Given the description of an element on the screen output the (x, y) to click on. 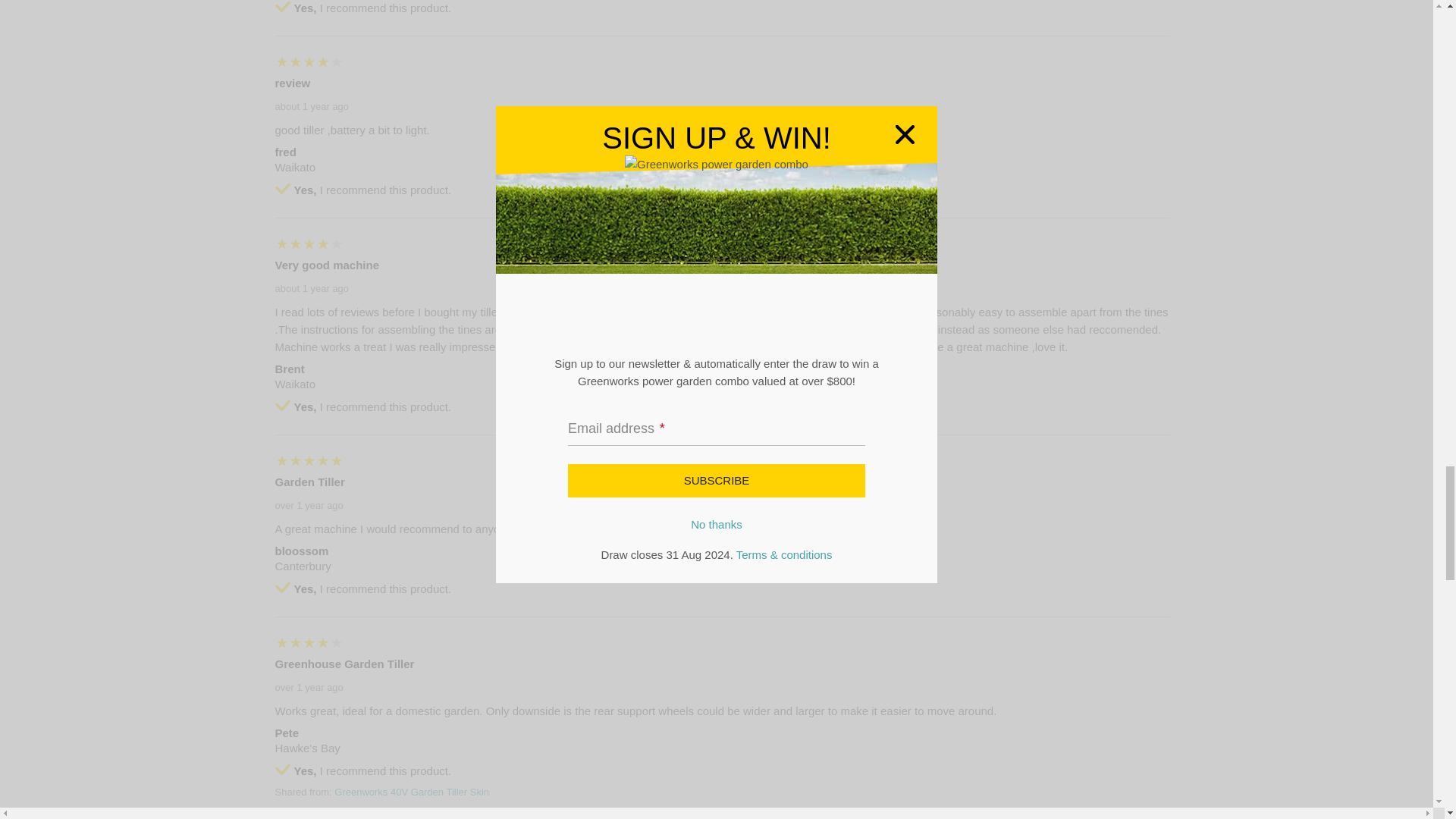
Greenworks 40V Garden Tiller Skin (411, 791)
